Given the description of an element on the screen output the (x, y) to click on. 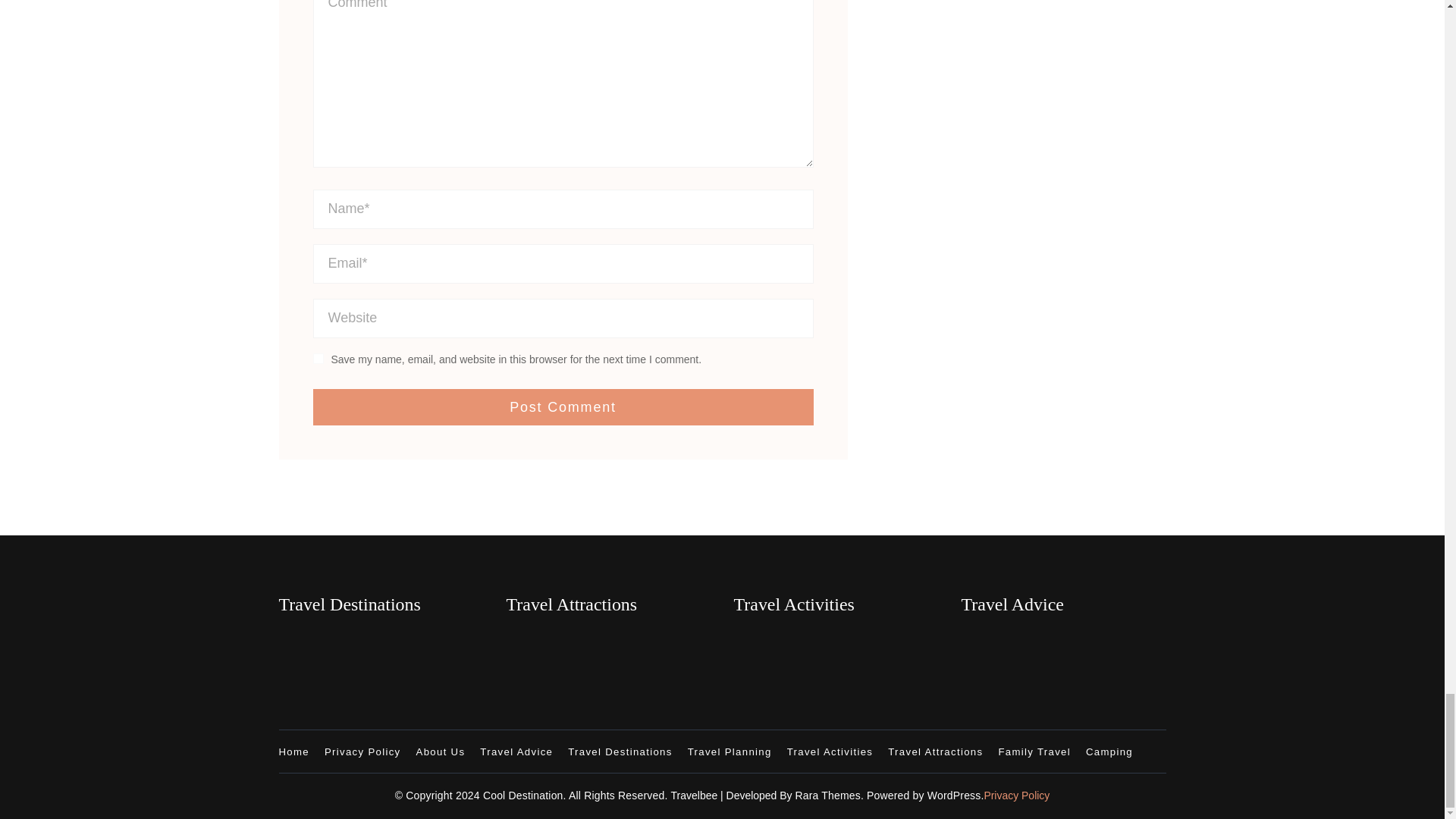
Post Comment (562, 407)
yes (318, 357)
